Given the description of an element on the screen output the (x, y) to click on. 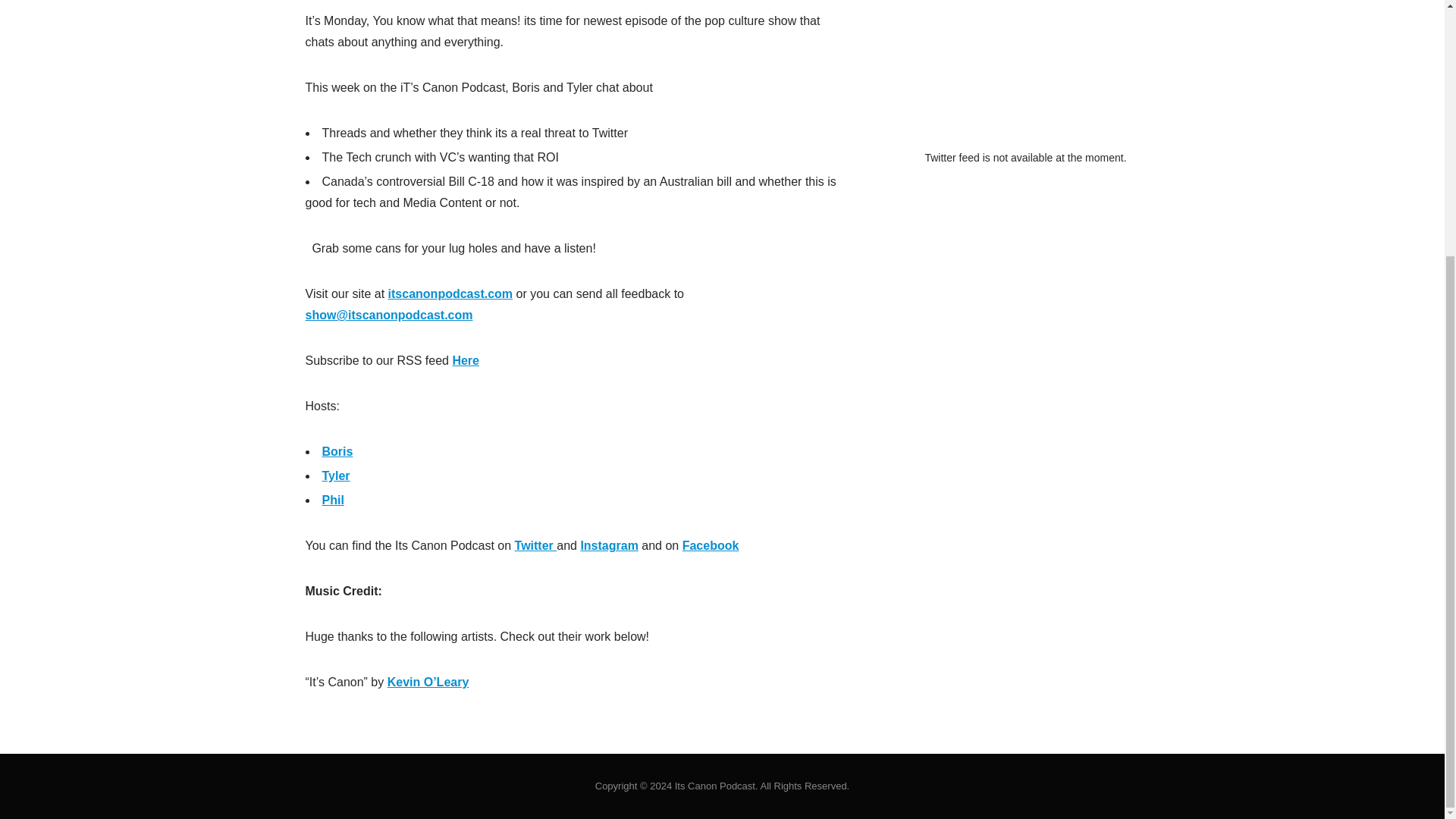
Twitter (536, 545)
Here (465, 359)
Tyler (335, 475)
Instagram (608, 545)
Phil (332, 499)
Boris (336, 451)
Facebook (710, 545)
itscanonpodcast.com (450, 293)
